Given the description of an element on the screen output the (x, y) to click on. 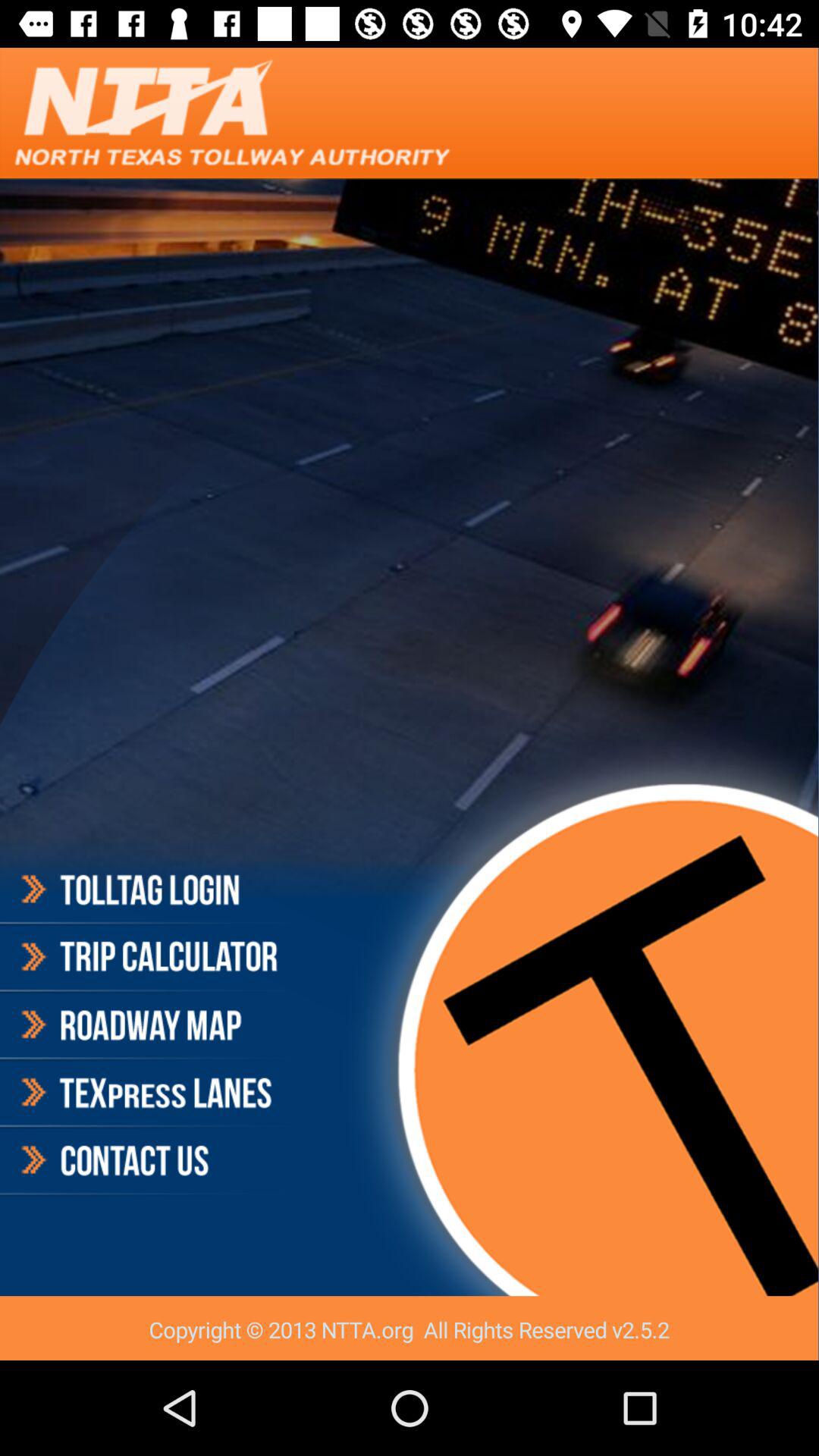
open contact us page (147, 1160)
